Given the description of an element on the screen output the (x, y) to click on. 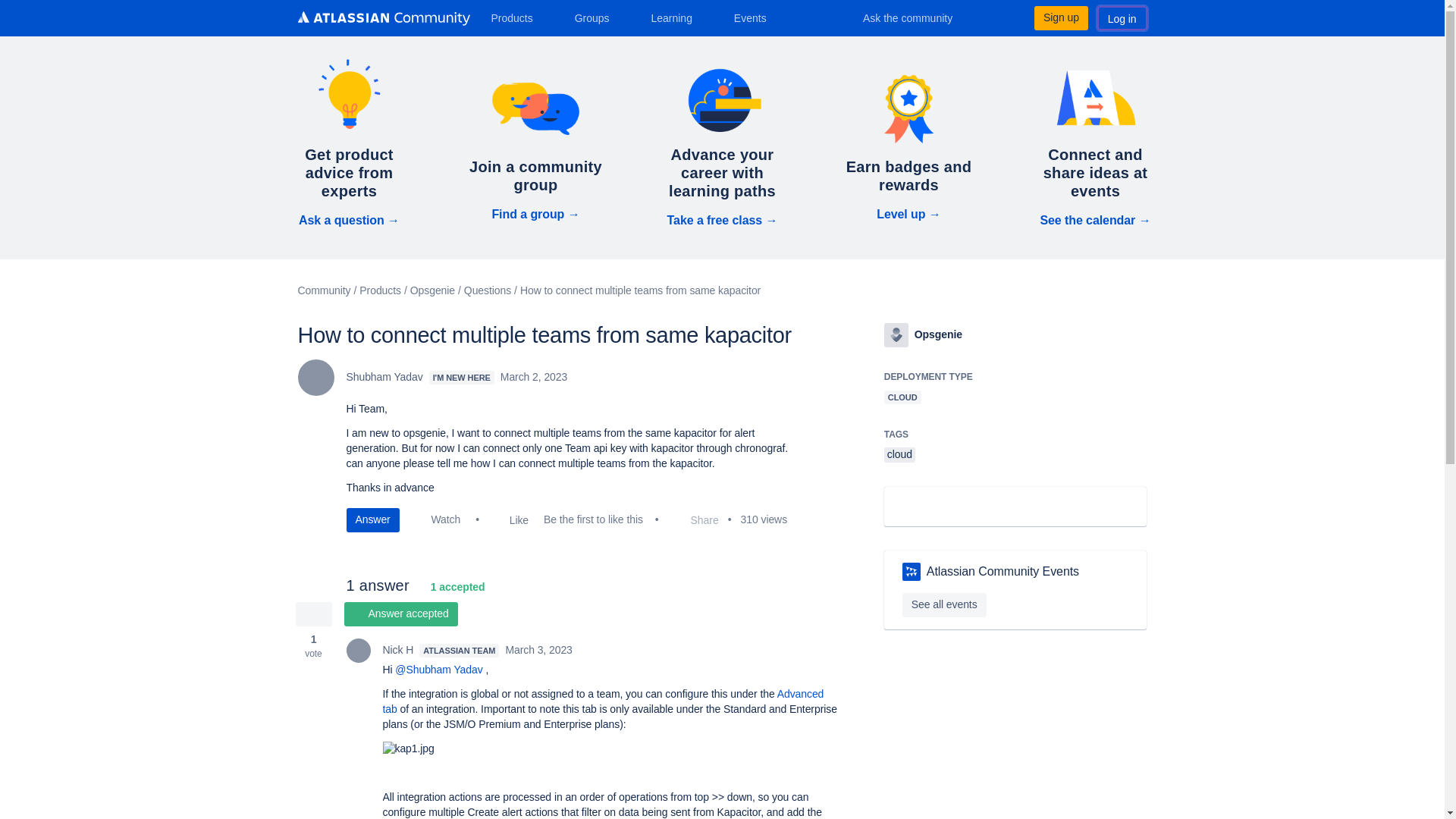
Learning (676, 17)
Shubham Yadav (315, 377)
Nick H (357, 650)
Events (756, 17)
AUG Leaders (911, 571)
Log in (1122, 17)
Products (517, 17)
kap1.jpg (407, 749)
Ask the community  (917, 17)
Sign up (1060, 17)
Opsgenie (895, 334)
Groups (598, 17)
Atlassian Community logo (382, 18)
Atlassian Community logo (382, 19)
